Given the description of an element on the screen output the (x, y) to click on. 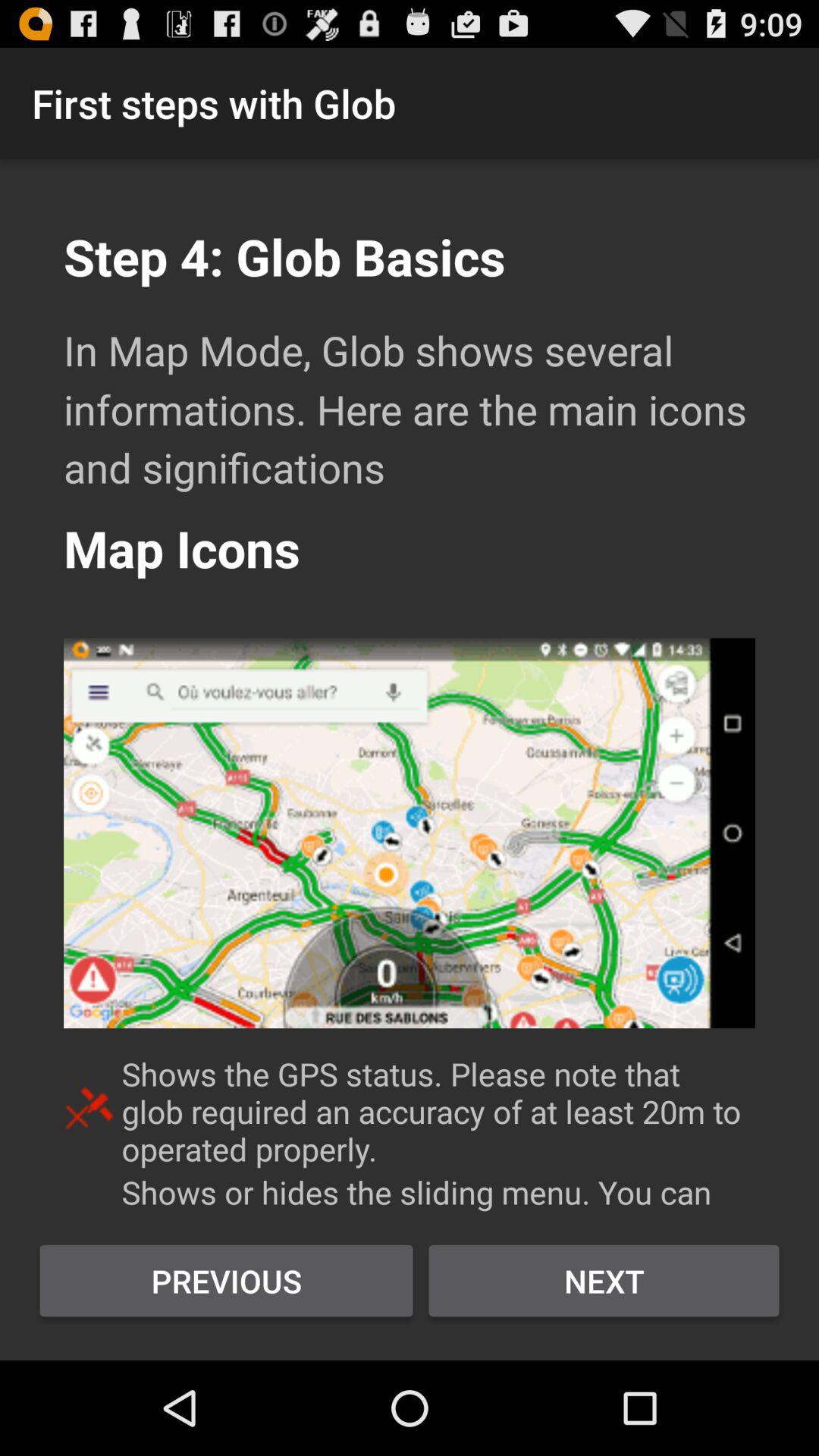
choose the icon next to the previous icon (603, 1280)
